Given the description of an element on the screen output the (x, y) to click on. 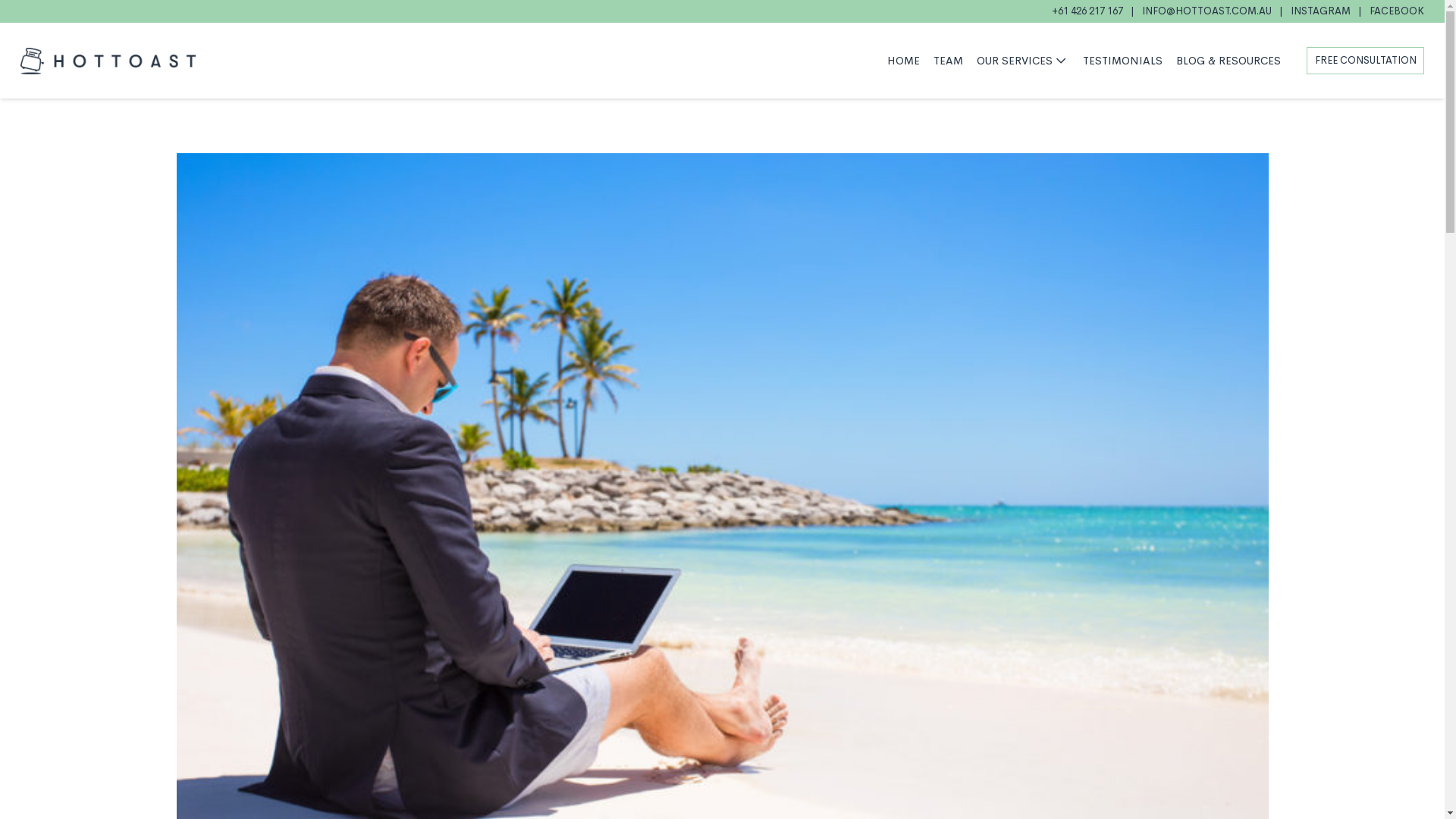
HOME Element type: text (903, 60)
TEAM Element type: text (947, 60)
FACEBOOK Element type: text (1396, 10)
FREE CONSULTATION Element type: text (1365, 60)
INFO@HOTTOAST.COM.AU Element type: text (1206, 10)
| Element type: text (1132, 10)
INSTAGRAM Element type: text (1320, 10)
| Element type: text (1359, 10)
TESTIMONIALS Element type: text (1122, 60)
BLOG & RESOURCES Element type: text (1228, 60)
OUR SERVICES Element type: text (1022, 60)
+61 426 217 167 Element type: text (1087, 10)
| Element type: text (1281, 10)
